Given the description of an element on the screen output the (x, y) to click on. 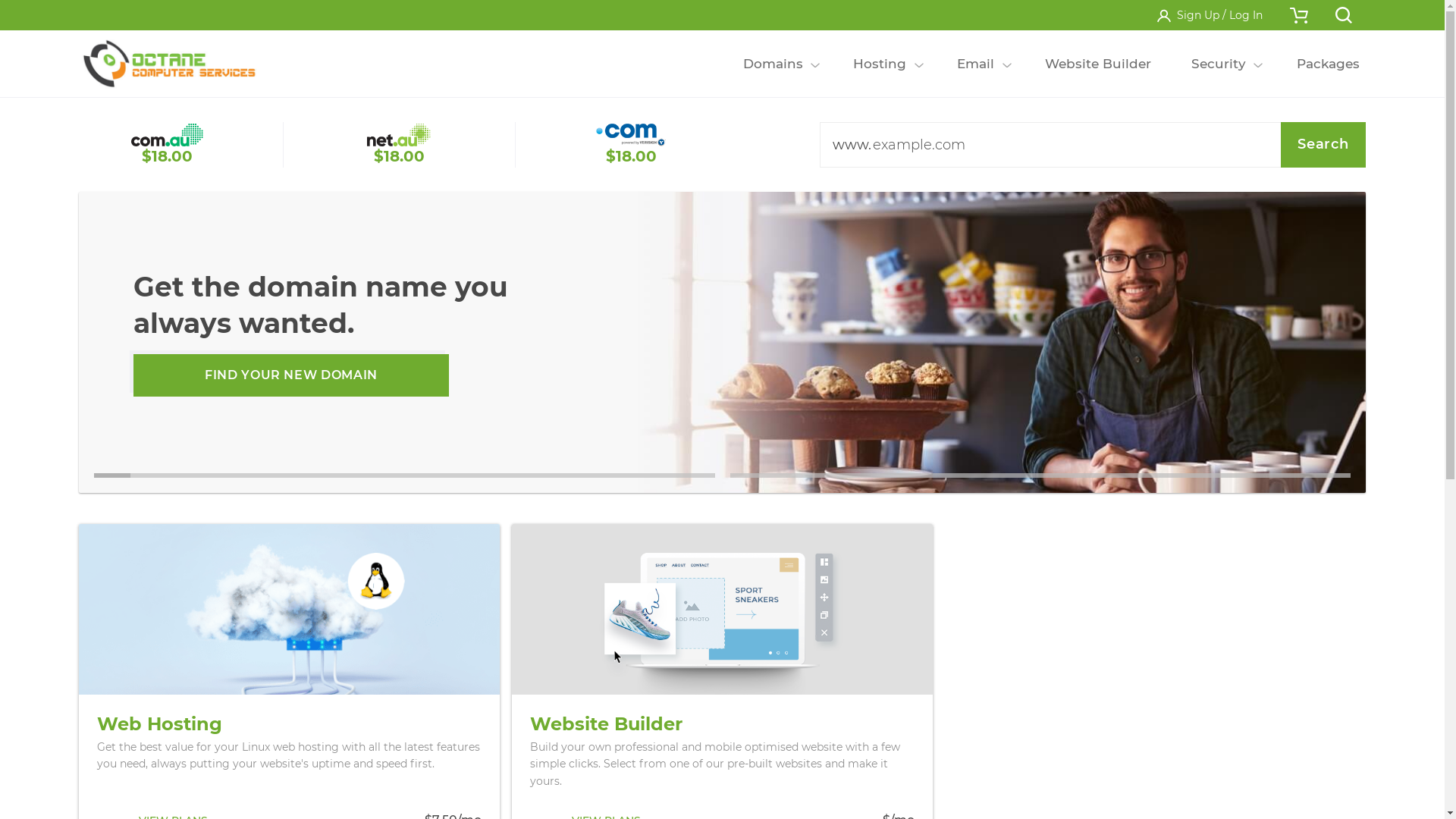
Email Element type: text (975, 63)
Hosting Element type: text (880, 63)
Website Builder Element type: text (1097, 63)
Security Element type: text (1218, 63)
FIND YOUR NEW DOMAIN Element type: text (290, 375)
Search Element type: text (1322, 144)
Packages Element type: text (1327, 63)
Domains Element type: text (772, 63)
